Given the description of an element on the screen output the (x, y) to click on. 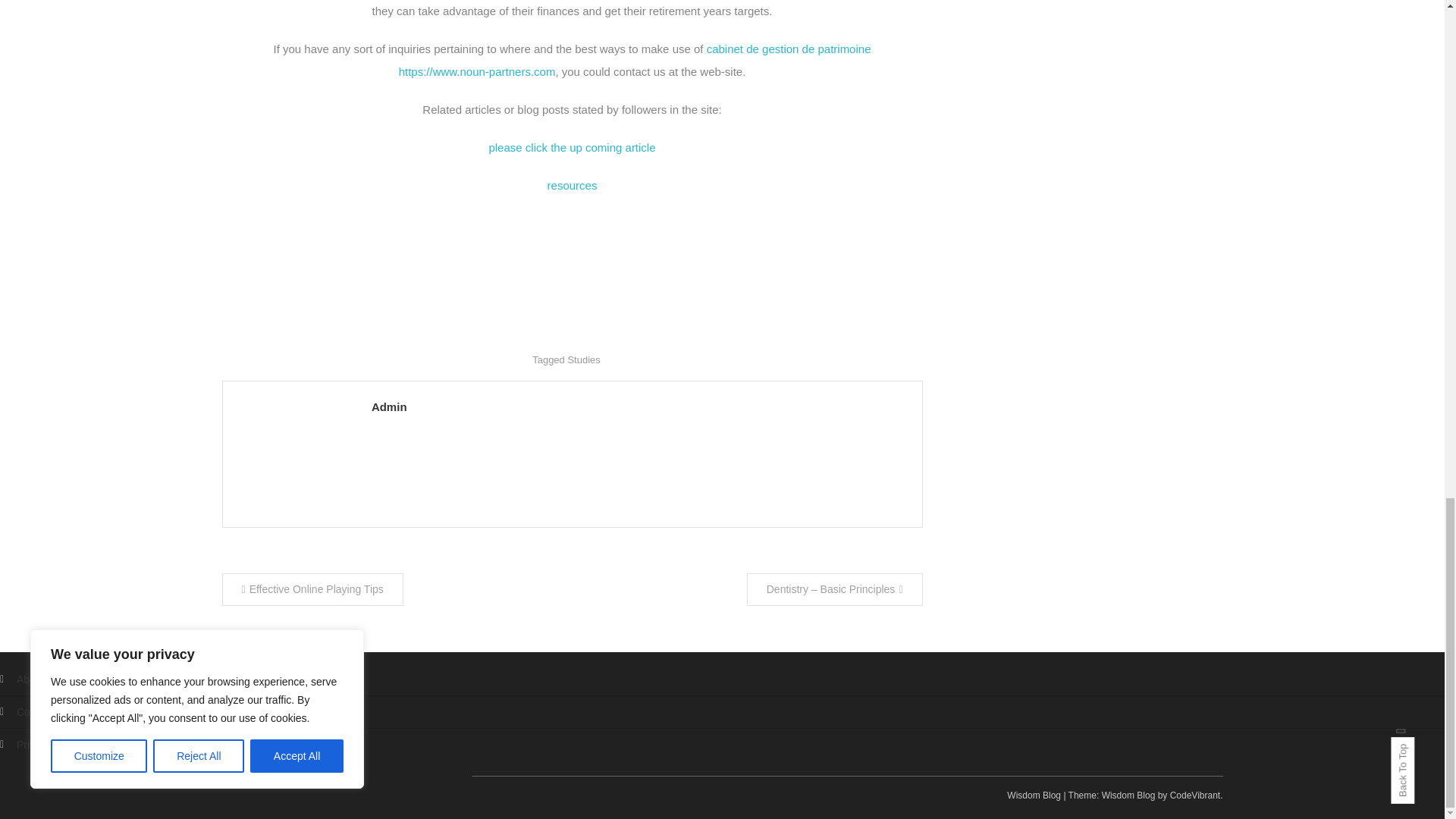
Studies (583, 359)
Admin (639, 406)
resources (571, 185)
please click the up coming article (571, 146)
Effective Online Playing Tips (312, 589)
